Given the description of an element on the screen output the (x, y) to click on. 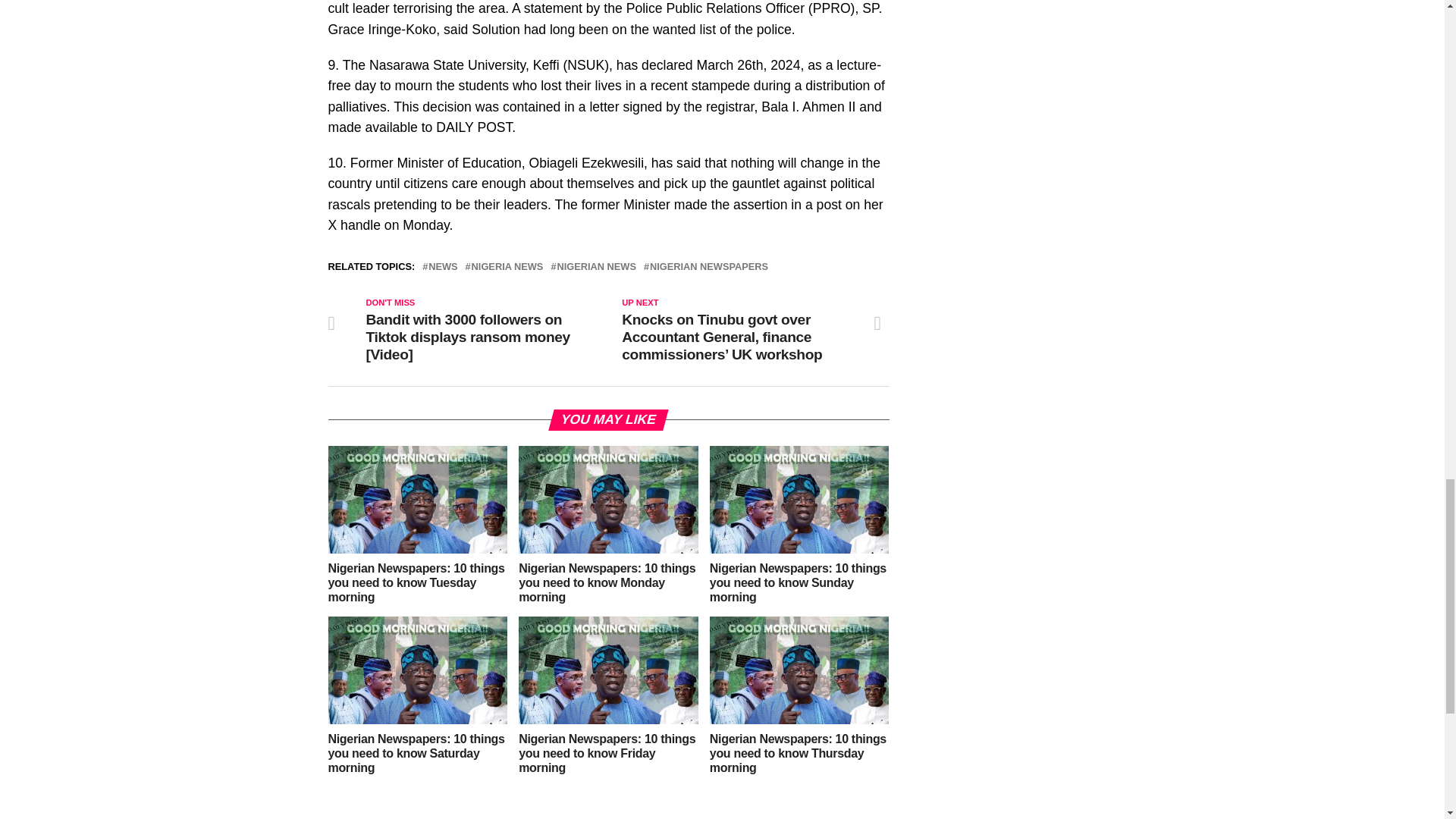
NIGERIAN NEWSPAPERS (708, 266)
NIGERIAN NEWS (596, 266)
NIGERIA NEWS (507, 266)
NEWS (442, 266)
